Given the description of an element on the screen output the (x, y) to click on. 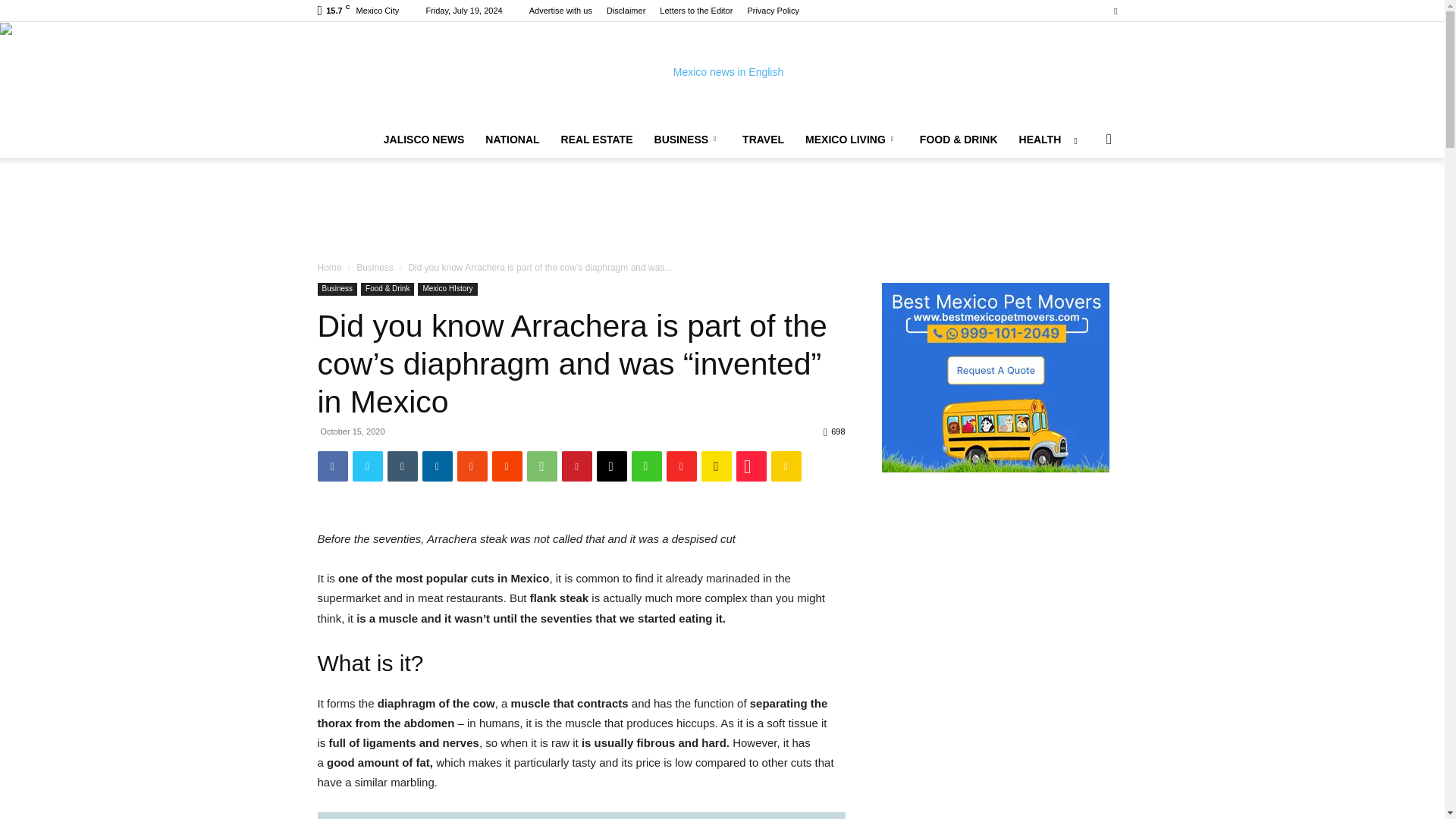
Twitter (366, 466)
WhatsApp (540, 466)
ReddIt (506, 466)
MEXICO LIVING (851, 139)
Flip (680, 466)
NATIONAL (512, 139)
Digg (610, 466)
Privacy Policy (771, 10)
Naver (645, 466)
REAL ESTATE (596, 139)
Mix (471, 466)
HEALTH (1040, 139)
Disclaimer (626, 10)
Twitter (1114, 10)
TRAVEL (763, 139)
